Given the description of an element on the screen output the (x, y) to click on. 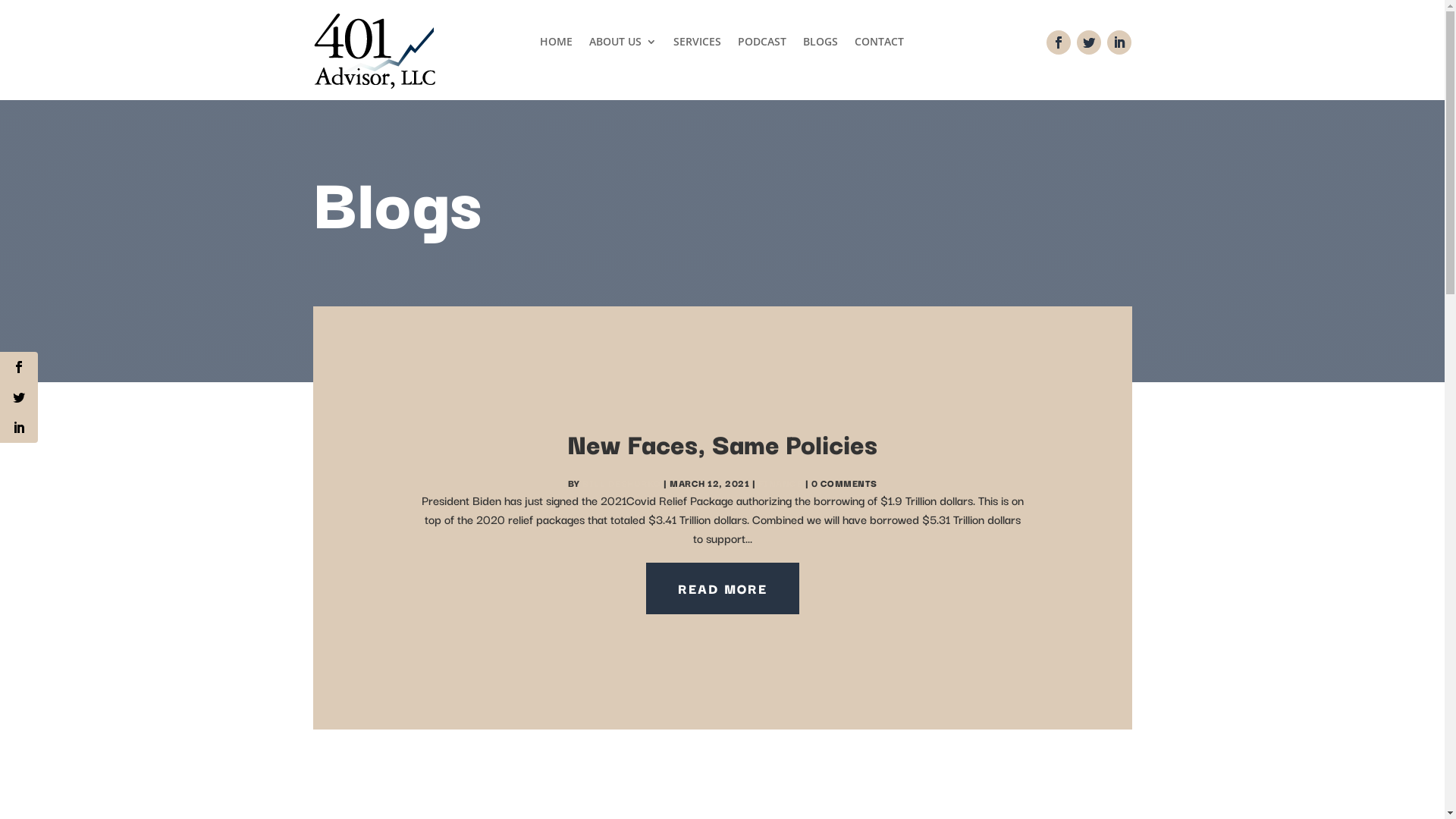
BILL DESHURKO Element type: text (621, 482)
HOME Element type: text (555, 44)
BLOGS Element type: text (820, 44)
Follow on LinkedIn Element type: hover (1119, 42)
READ MORE Element type: text (722, 588)
Follow on Facebook Element type: hover (1058, 42)
FINANCE Element type: text (780, 482)
ABOUT US Element type: text (622, 44)
CONTACT Element type: text (878, 44)
401-Adv-logo Element type: hover (373, 49)
Follow on Twitter Element type: hover (1088, 42)
New Faces, Same Policies Element type: text (722, 442)
PODCAST Element type: text (761, 44)
SERVICES Element type: text (697, 44)
